Given the description of an element on the screen output the (x, y) to click on. 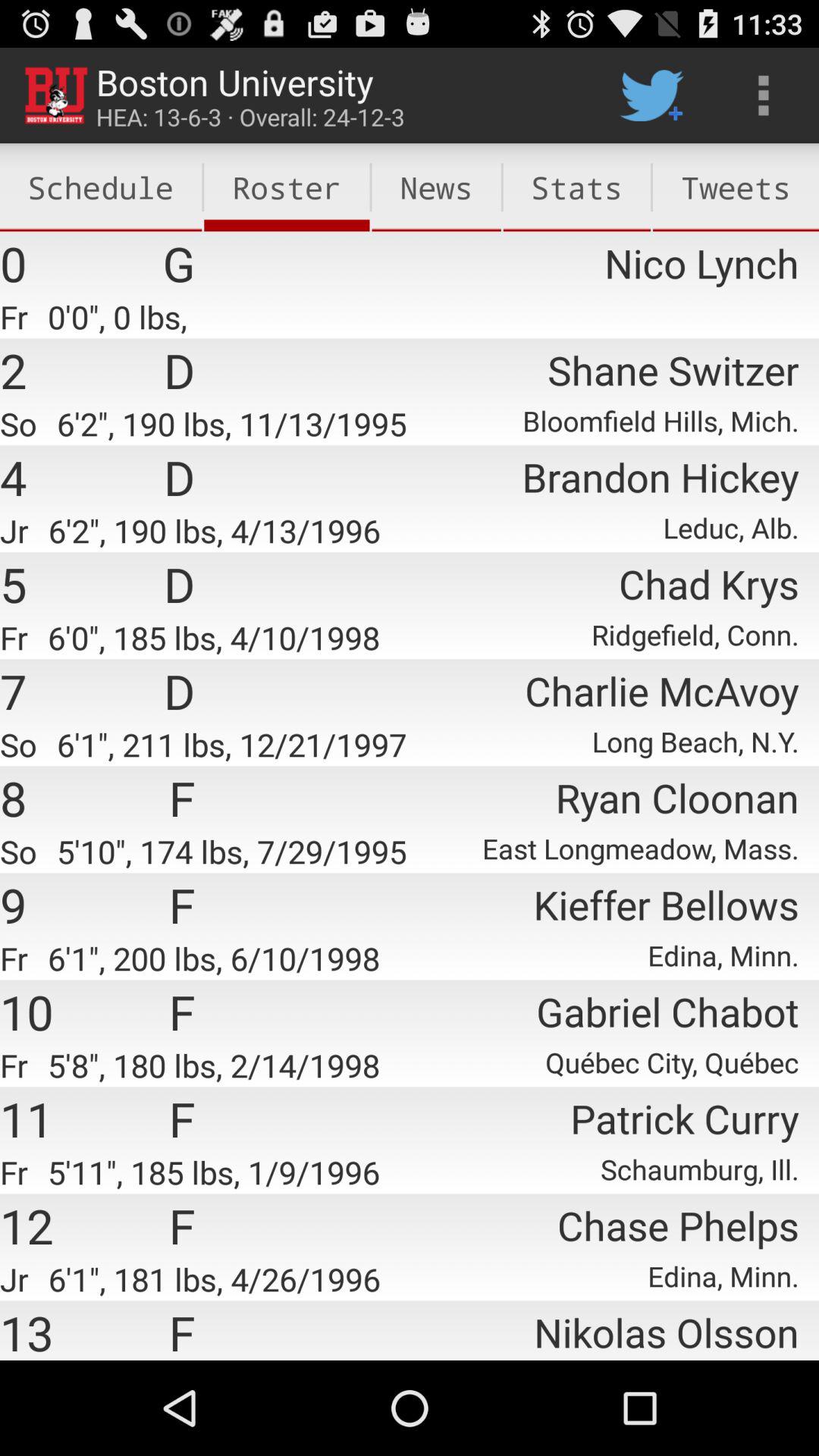
tap item to the right of news icon (651, 95)
